Given the description of an element on the screen output the (x, y) to click on. 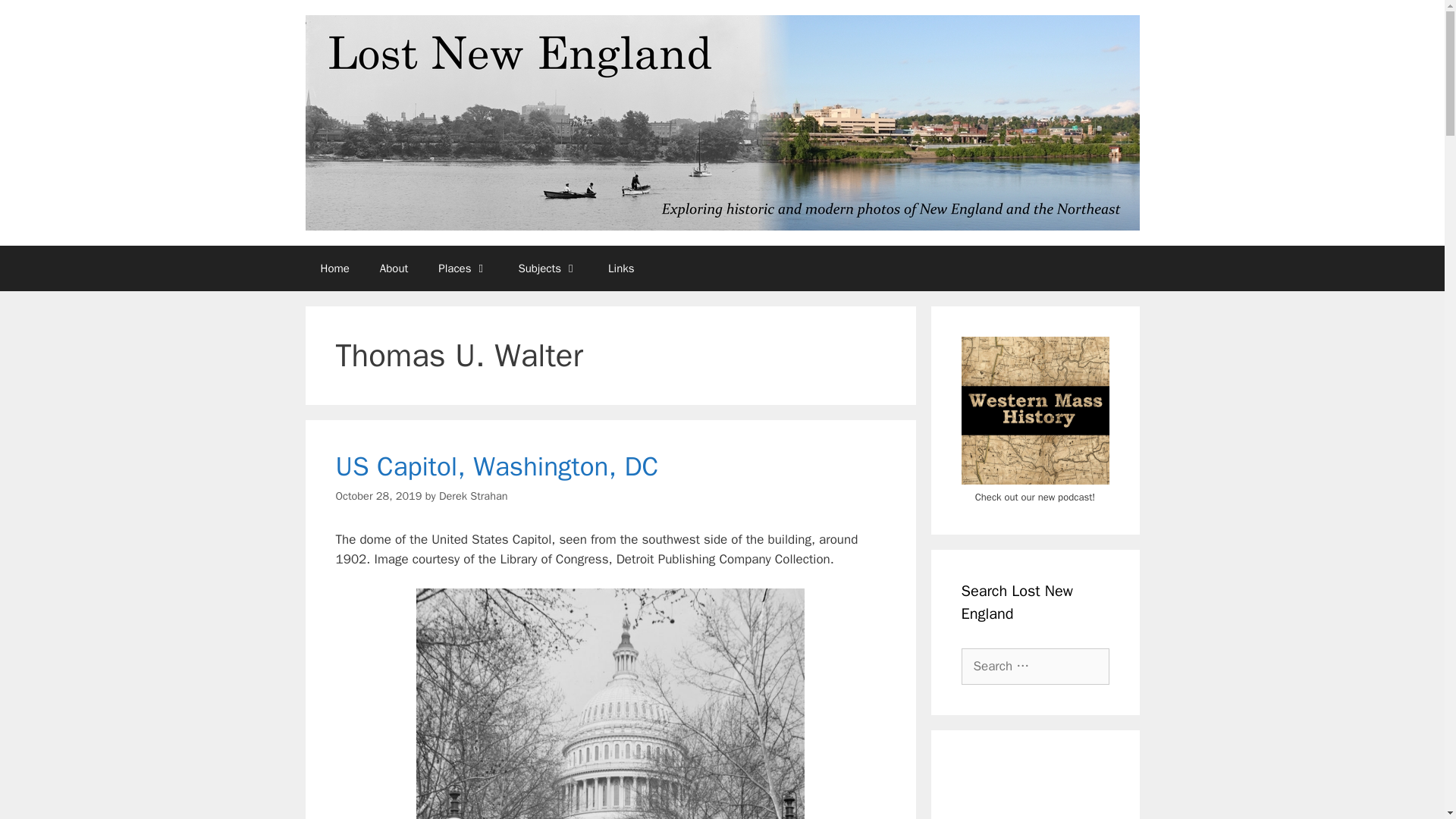
Search for: (1034, 666)
Advertisement (1034, 789)
View all posts by Derek Strahan (473, 495)
Places (462, 268)
Home (334, 268)
About (394, 268)
Subjects (547, 268)
